Given the description of an element on the screen output the (x, y) to click on. 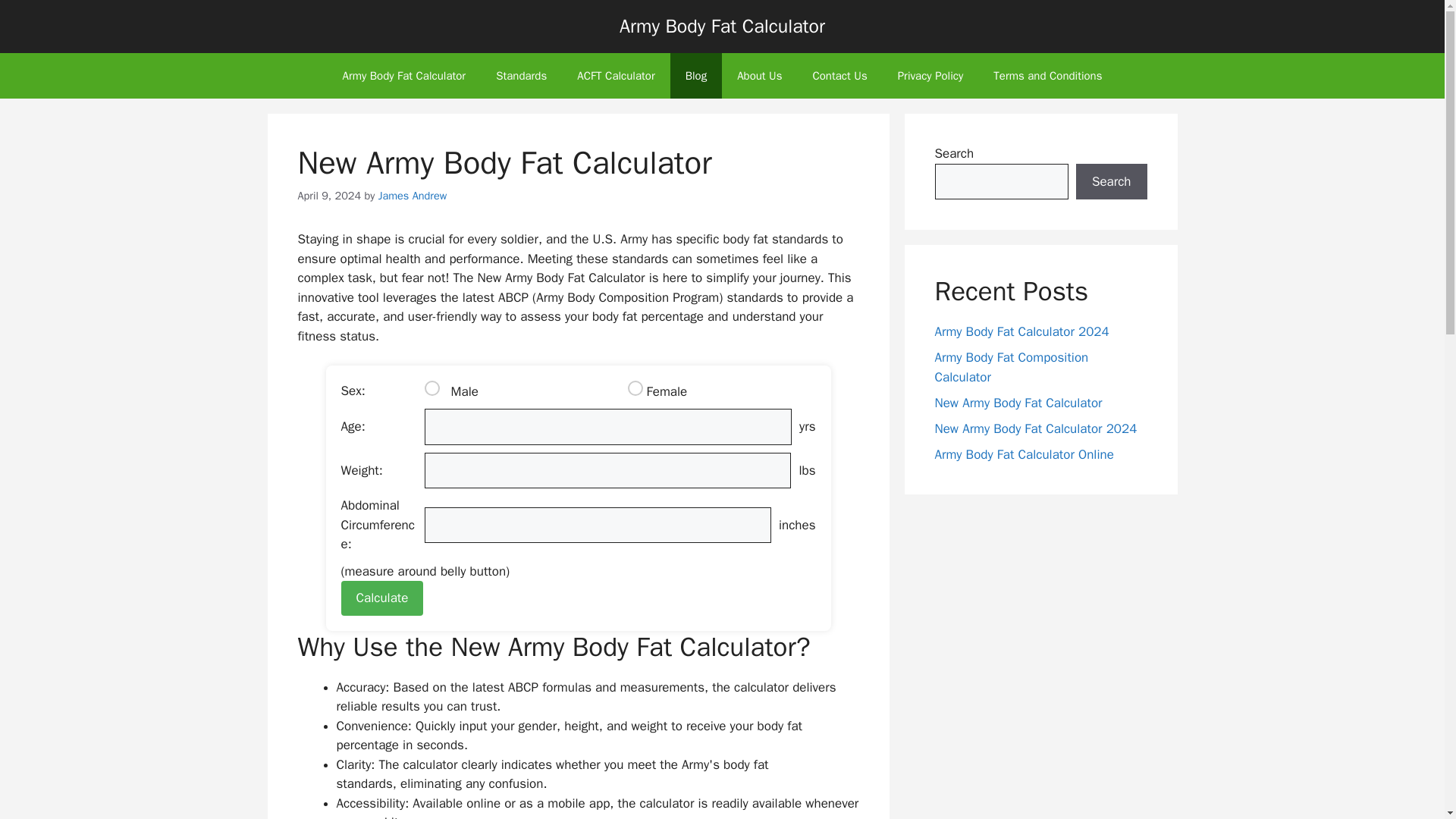
New Army Body Fat Calculator (1018, 401)
Army Body Fat Calculator 2024 (1021, 331)
Search (1111, 181)
Army Body Fat Calculator (403, 75)
Army Body Fat Calculator (722, 25)
m (432, 387)
View all posts by James Andrew (412, 195)
Terms and Conditions (1047, 75)
Calculate (381, 597)
James Andrew (412, 195)
